Given the description of an element on the screen output the (x, y) to click on. 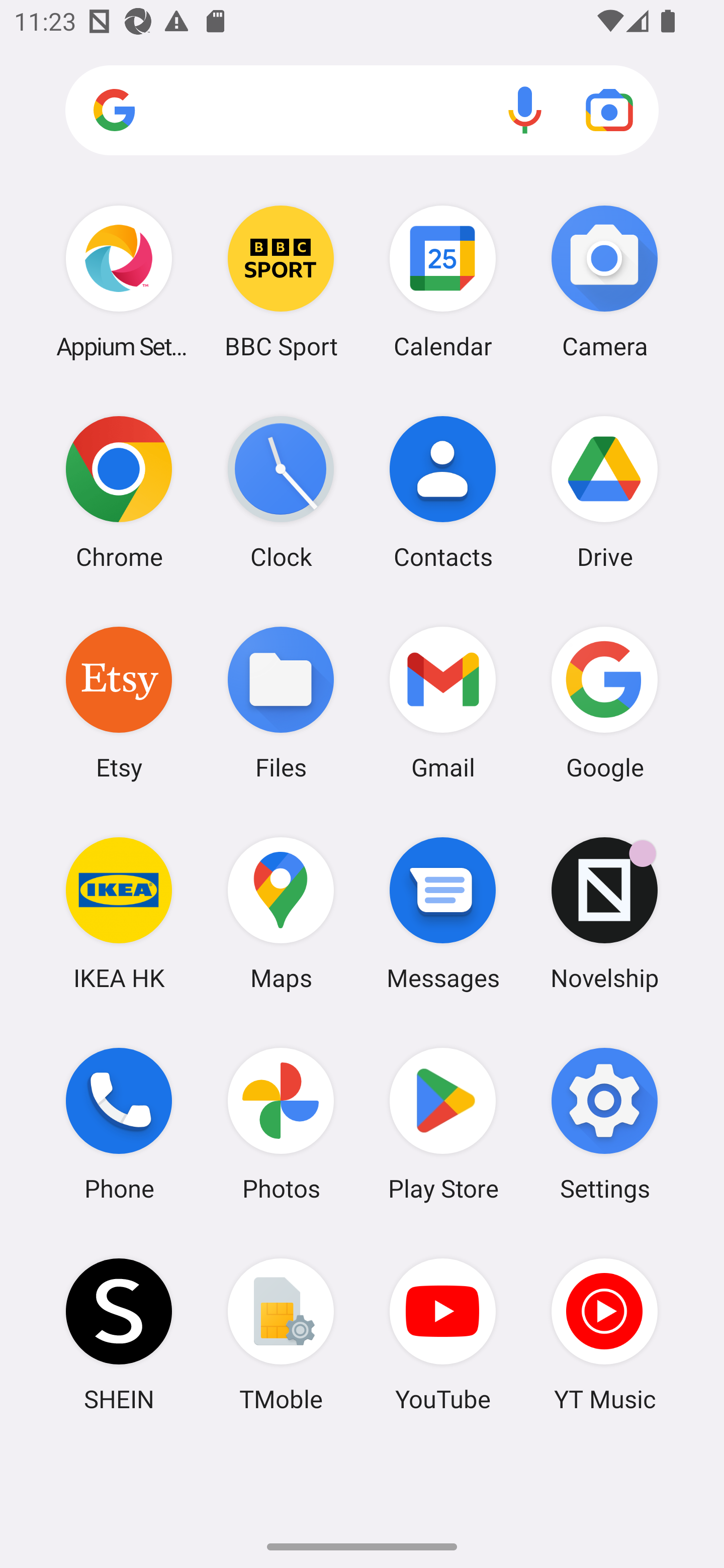
Search apps, web and more (361, 110)
Voice search (524, 109)
Google Lens (608, 109)
Appium Settings (118, 281)
BBC Sport (280, 281)
Calendar (443, 281)
Camera (604, 281)
Chrome (118, 492)
Clock (280, 492)
Contacts (443, 492)
Drive (604, 492)
Etsy (118, 702)
Files (280, 702)
Gmail (443, 702)
Google (604, 702)
IKEA HK (118, 913)
Maps (280, 913)
Messages (443, 913)
Novelship Novelship has 5 notifications (604, 913)
Phone (118, 1124)
Photos (280, 1124)
Play Store (443, 1124)
Settings (604, 1124)
SHEIN (118, 1334)
TMoble (280, 1334)
YouTube (443, 1334)
YT Music (604, 1334)
